Given the description of an element on the screen output the (x, y) to click on. 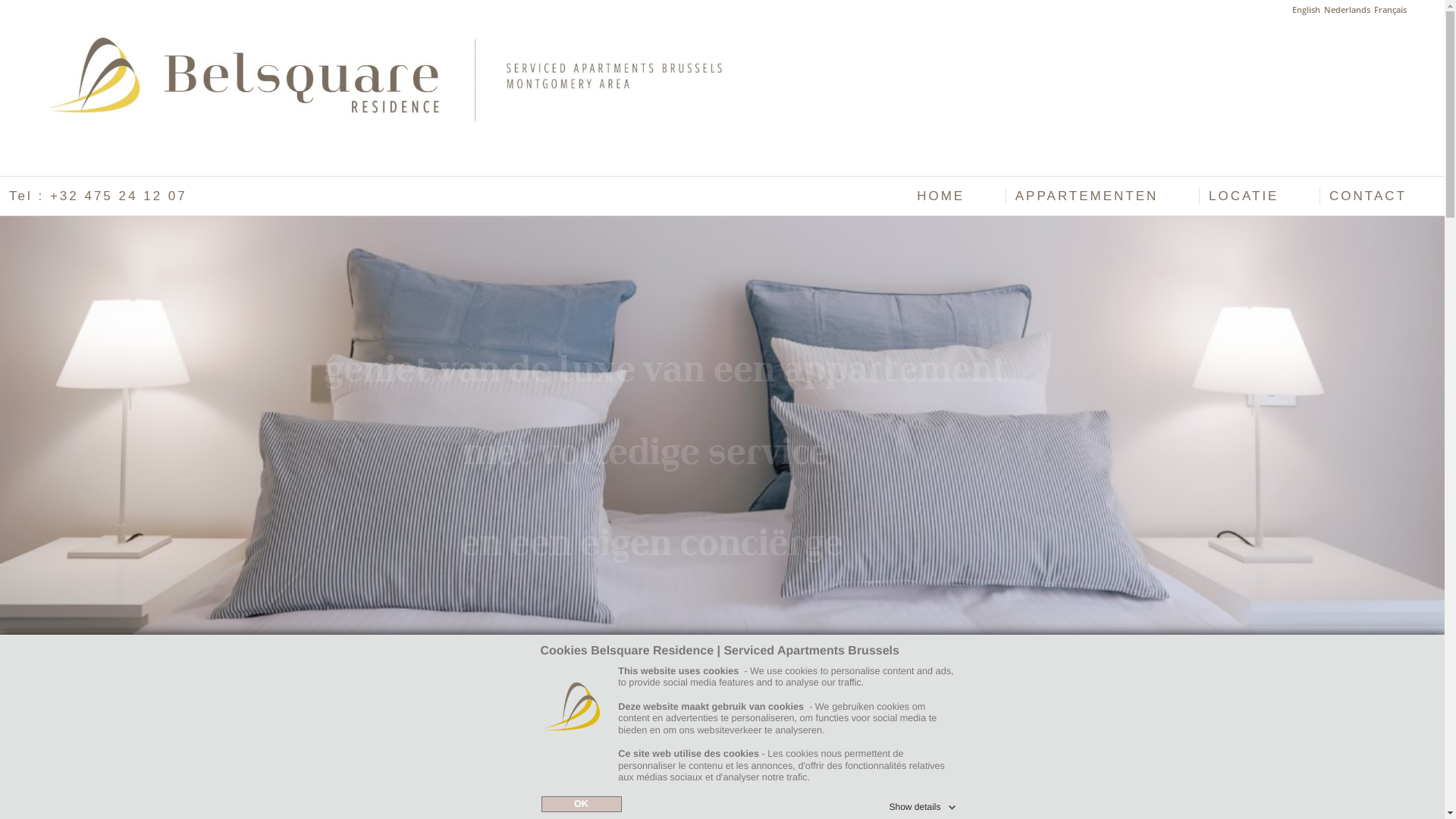
CONTACT Element type: text (1381, 195)
APPARTEMENTEN Element type: text (1100, 195)
English Element type: text (1306, 9)
Nederlands Element type: text (1347, 9)
LOCATIE Element type: text (1257, 195)
Show details Element type: text (923, 804)
Tel : +32 475 24 12 07 Element type: text (112, 195)
OK Element type: text (581, 804)
Rent your apartment in Brussels city centre Element type: hover (406, 76)
HOME Element type: text (954, 195)
